Given the description of an element on the screen output the (x, y) to click on. 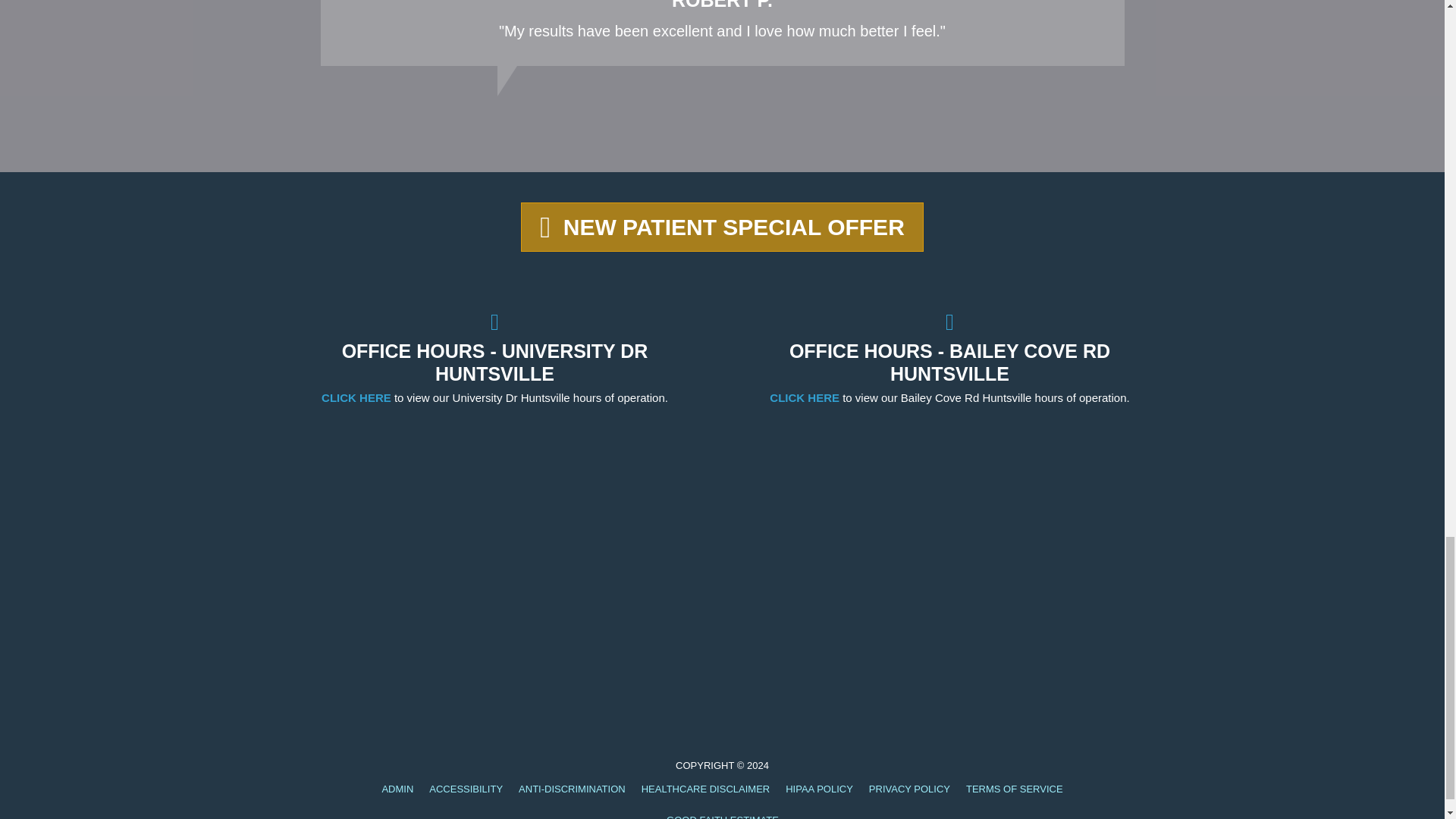
Click Here (722, 226)
